Given the description of an element on the screen output the (x, y) to click on. 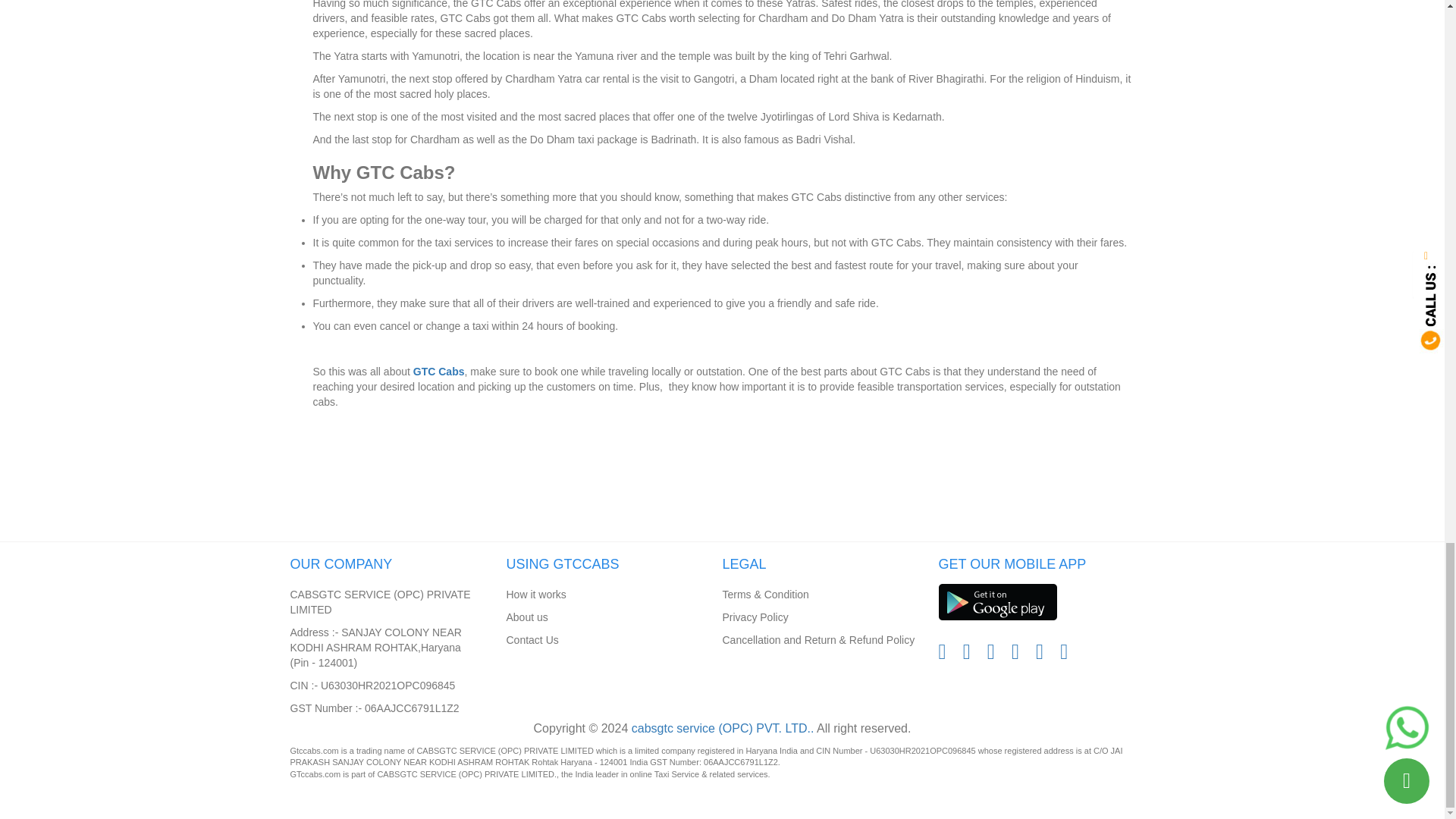
Privacy Policy (754, 616)
Contact Us (532, 639)
GTC Cabs (438, 371)
About us (527, 616)
How it works (536, 594)
